Given the description of an element on the screen output the (x, y) to click on. 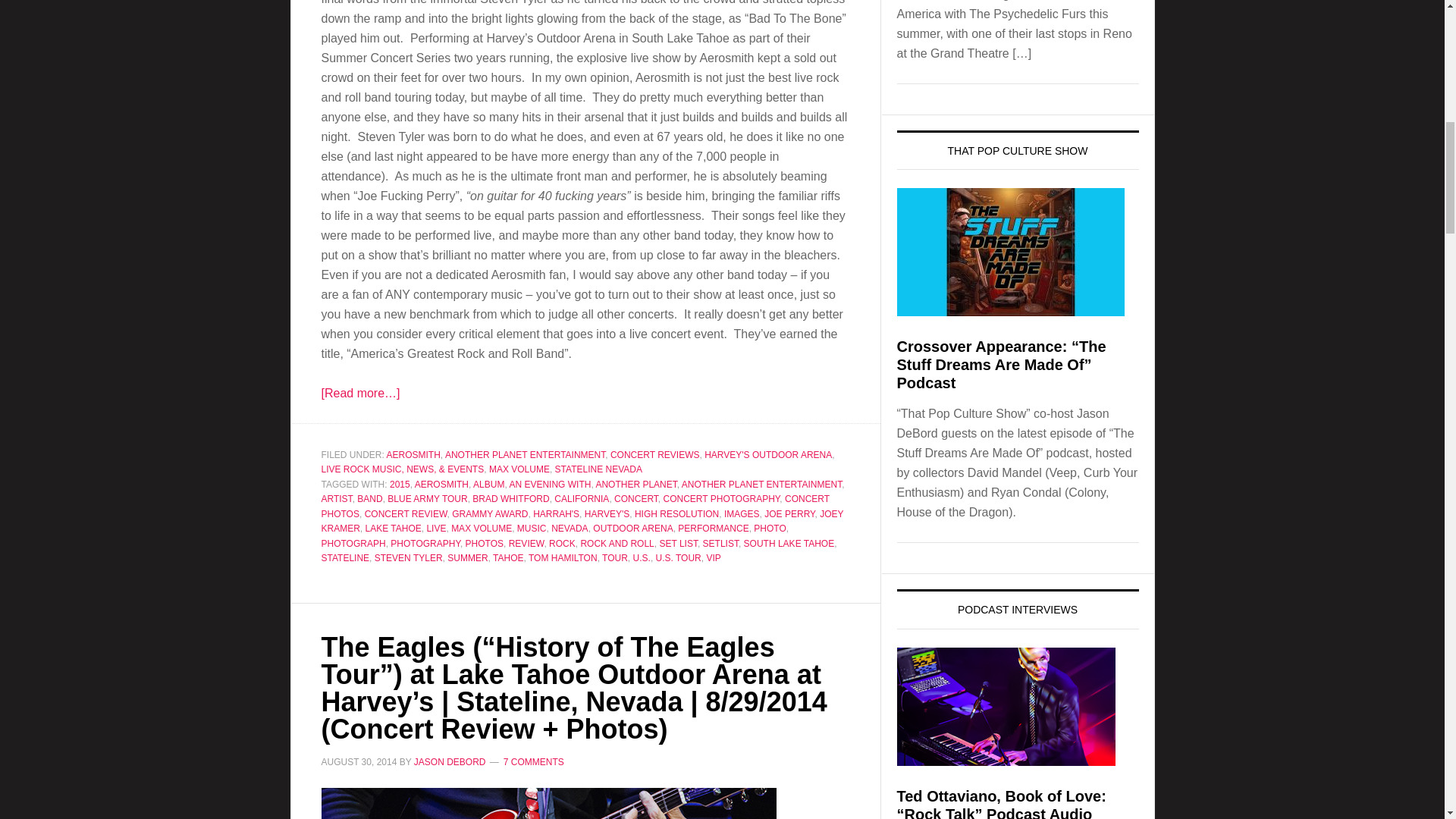
HARVEY'S OUTDOOR ARENA (767, 454)
STATELINE NEVADA (598, 469)
AN EVENING WITH (549, 484)
ALBUM (488, 484)
AEROSMITH (414, 454)
ANOTHER PLANET ENTERTAINMENT (525, 454)
CONCERT REVIEWS (655, 454)
2015 (400, 484)
MAX VOLUME (519, 469)
AEROSMITH (441, 484)
